Given the description of an element on the screen output the (x, y) to click on. 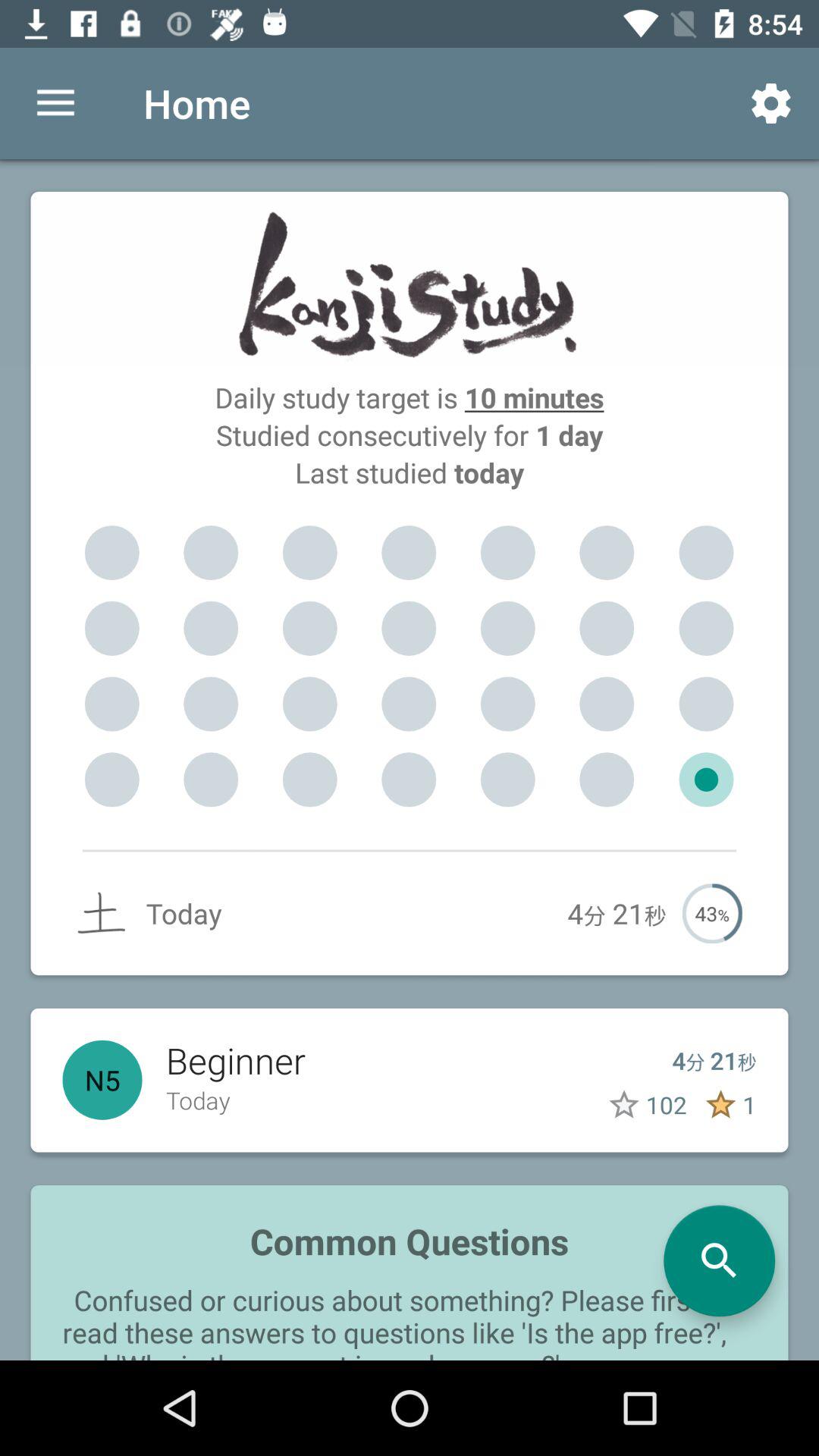
search (719, 1260)
